Given the description of an element on the screen output the (x, y) to click on. 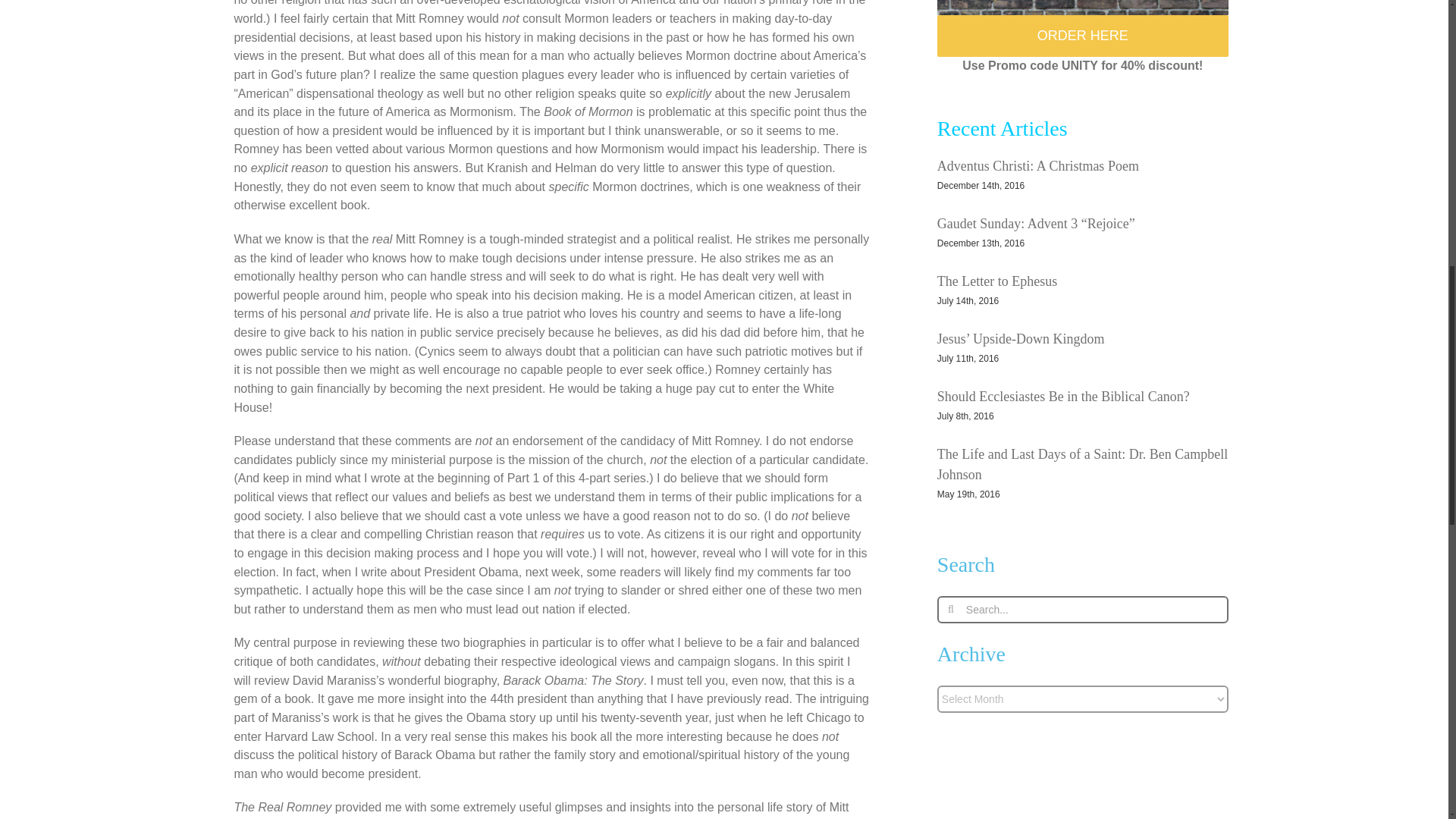
ORDER HERE (1082, 35)
Adventus Christi: A Christmas Poem (1037, 165)
By the A-1 (1082, 7)
